Given the description of an element on the screen output the (x, y) to click on. 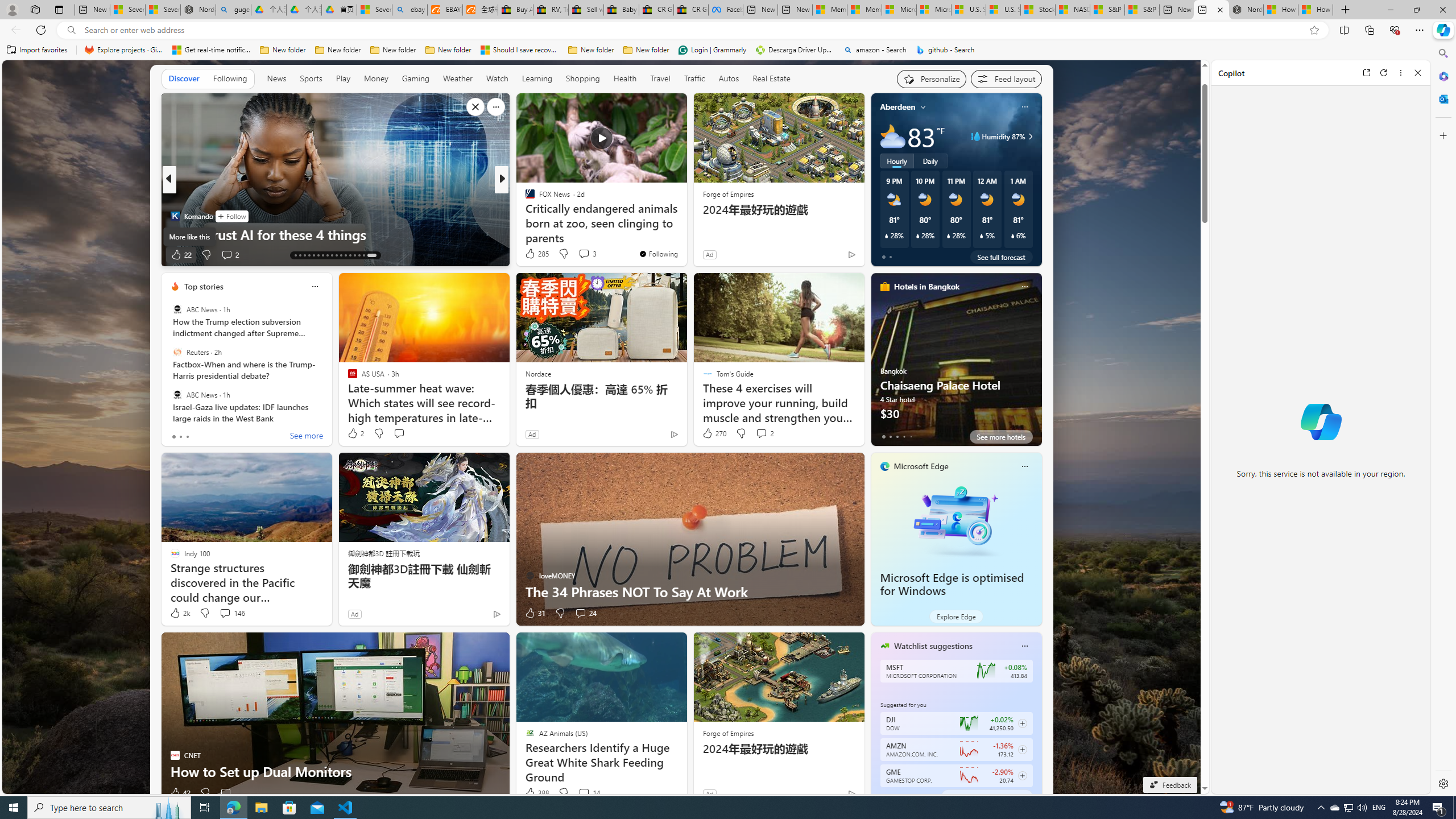
Reuters (176, 352)
Hotels in Bangkok (926, 286)
Traffic (694, 78)
Favorites bar (715, 49)
Autos (728, 79)
See full forecast (1000, 256)
Weather (457, 79)
Baby Keepsakes & Announcements for sale | eBay (620, 9)
AutomationID: tab-22 (336, 255)
Search icon (70, 29)
Health (624, 79)
